Given the description of an element on the screen output the (x, y) to click on. 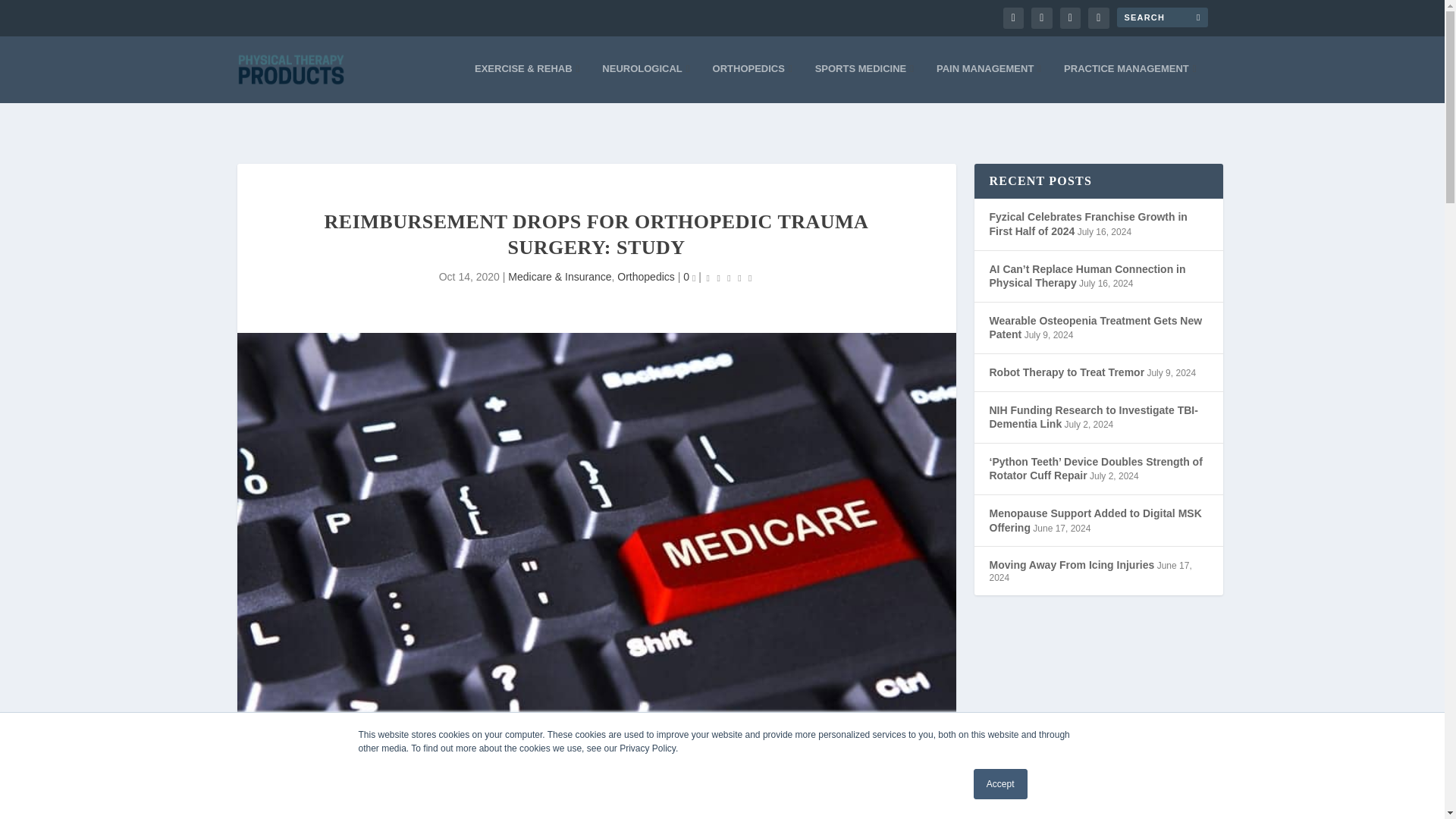
Accept (1000, 784)
SPORTS MEDICINE (864, 83)
ORTHOPEDICS (752, 83)
NEUROLOGICAL (645, 83)
Rating: 0.00 (729, 277)
Search for: (1161, 17)
PAIN MANAGEMENT (988, 83)
